Given the description of an element on the screen output the (x, y) to click on. 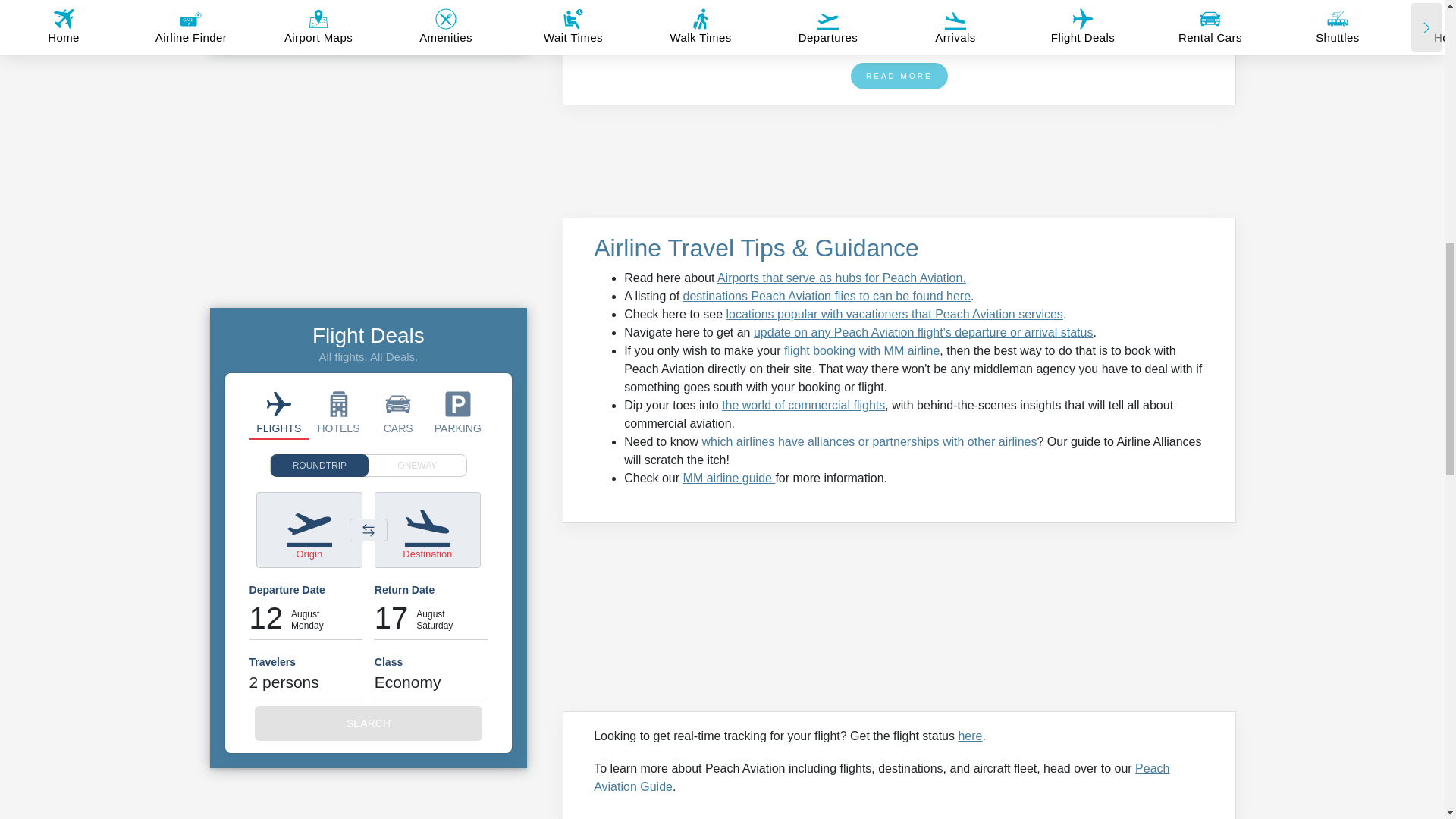
 Flight Deals (278, 411)
Off-Airport Parking (457, 411)
Hotel Deals (338, 411)
Airport Rental Cars (398, 411)
